Given the description of an element on the screen output the (x, y) to click on. 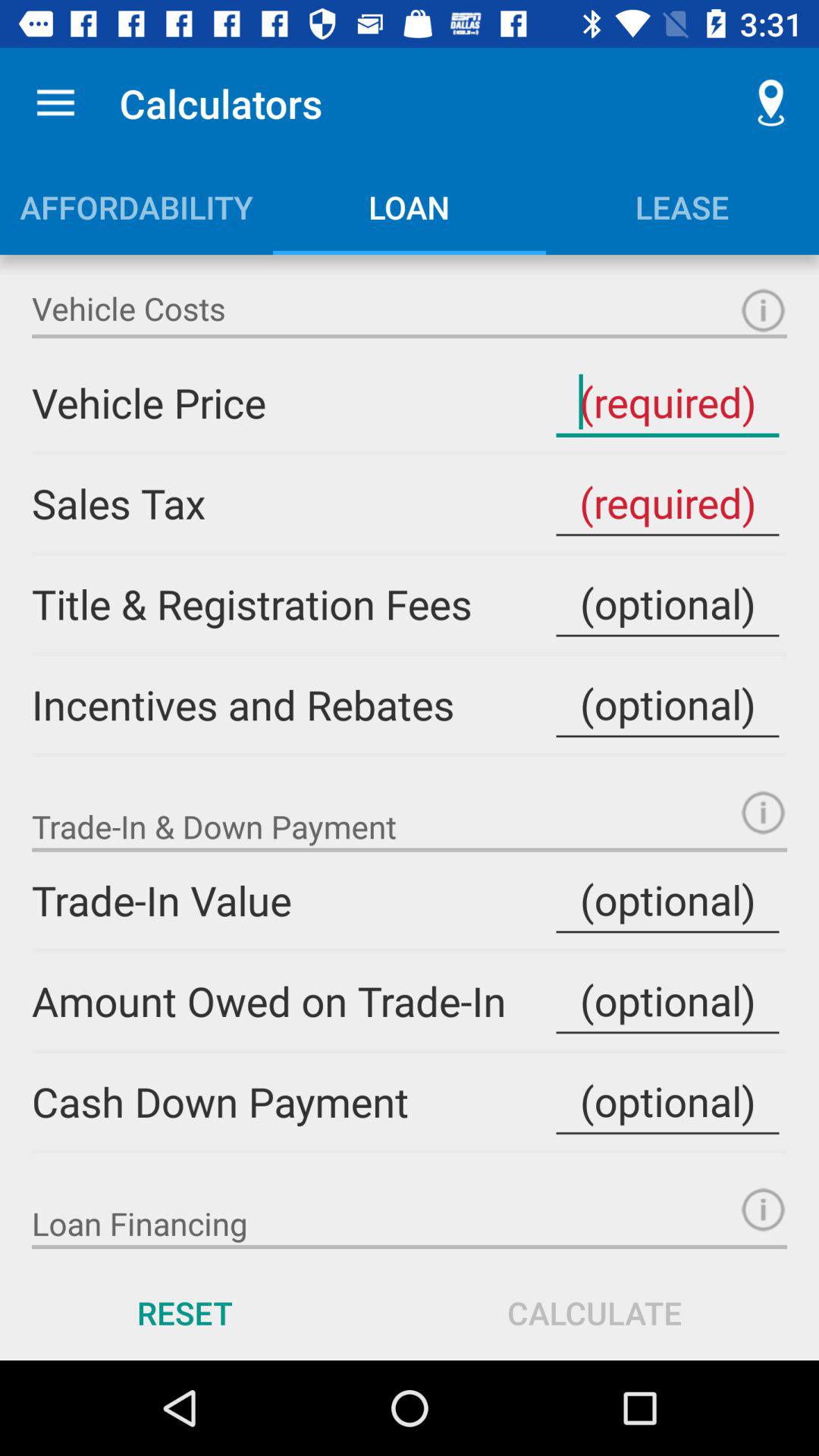
loan financing information (763, 1209)
